Given the description of an element on the screen output the (x, y) to click on. 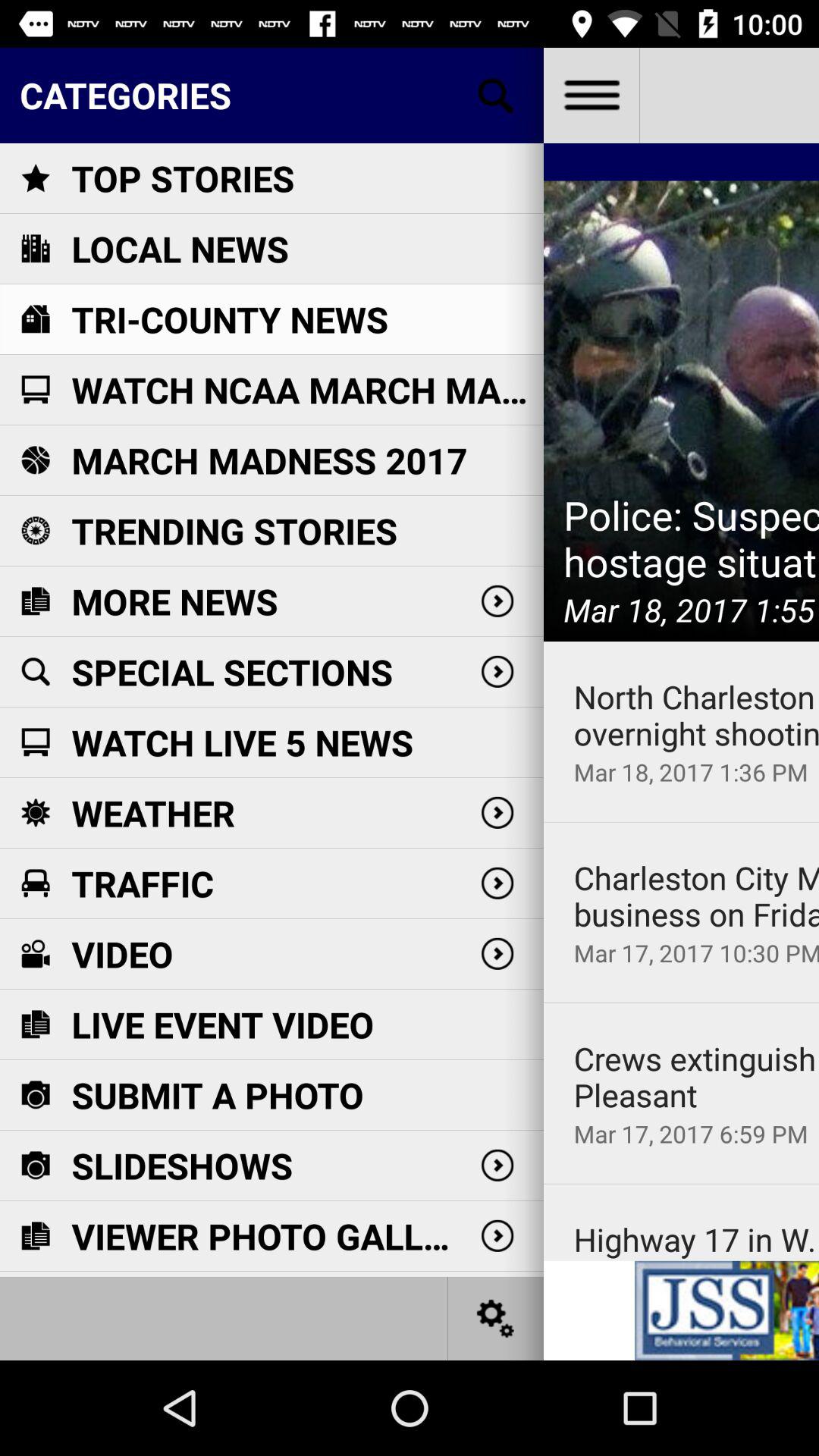
launch icon below slideshows icon (266, 1236)
